Given the description of an element on the screen output the (x, y) to click on. 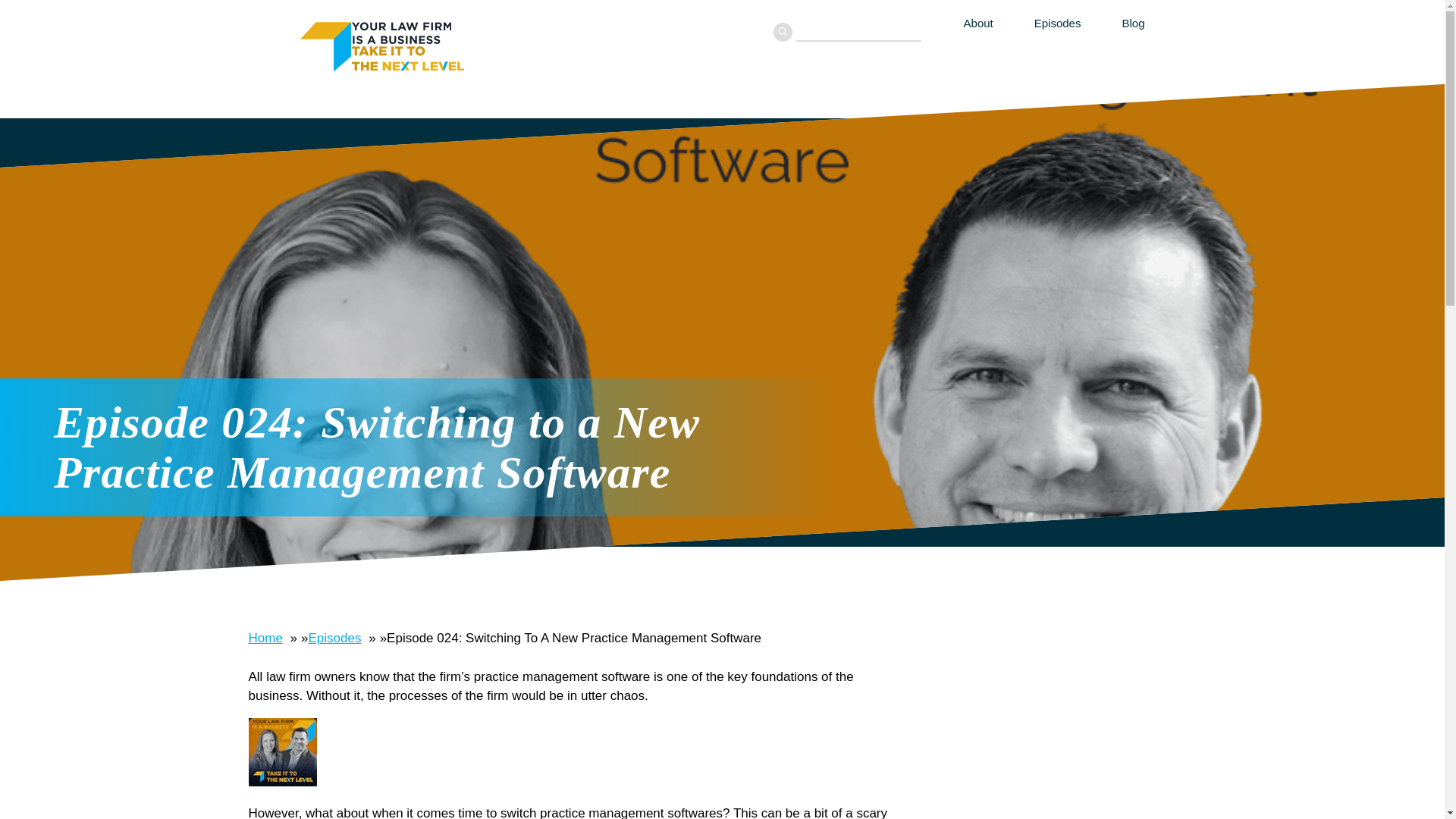
Search (782, 31)
Blog (1122, 23)
Episodes (1057, 23)
Your Law Firm is a Business (413, 43)
Libsyn Player (570, 751)
Search (782, 31)
About (978, 23)
Home (265, 637)
Search (782, 31)
Episodes (334, 637)
